Given the description of an element on the screen output the (x, y) to click on. 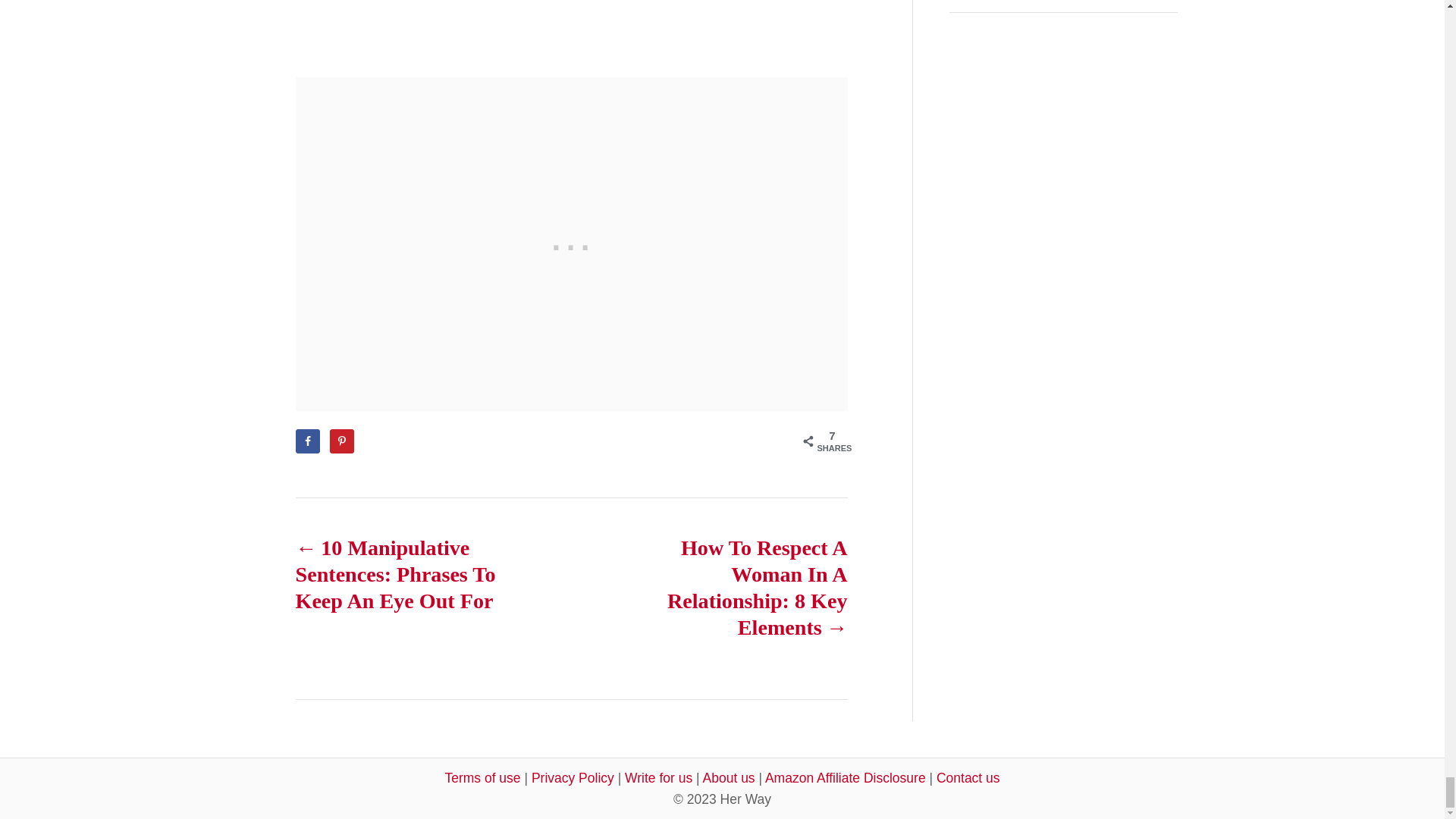
Share on Facebook (307, 441)
Save to Pinterest (341, 441)
